Given the description of an element on the screen output the (x, y) to click on. 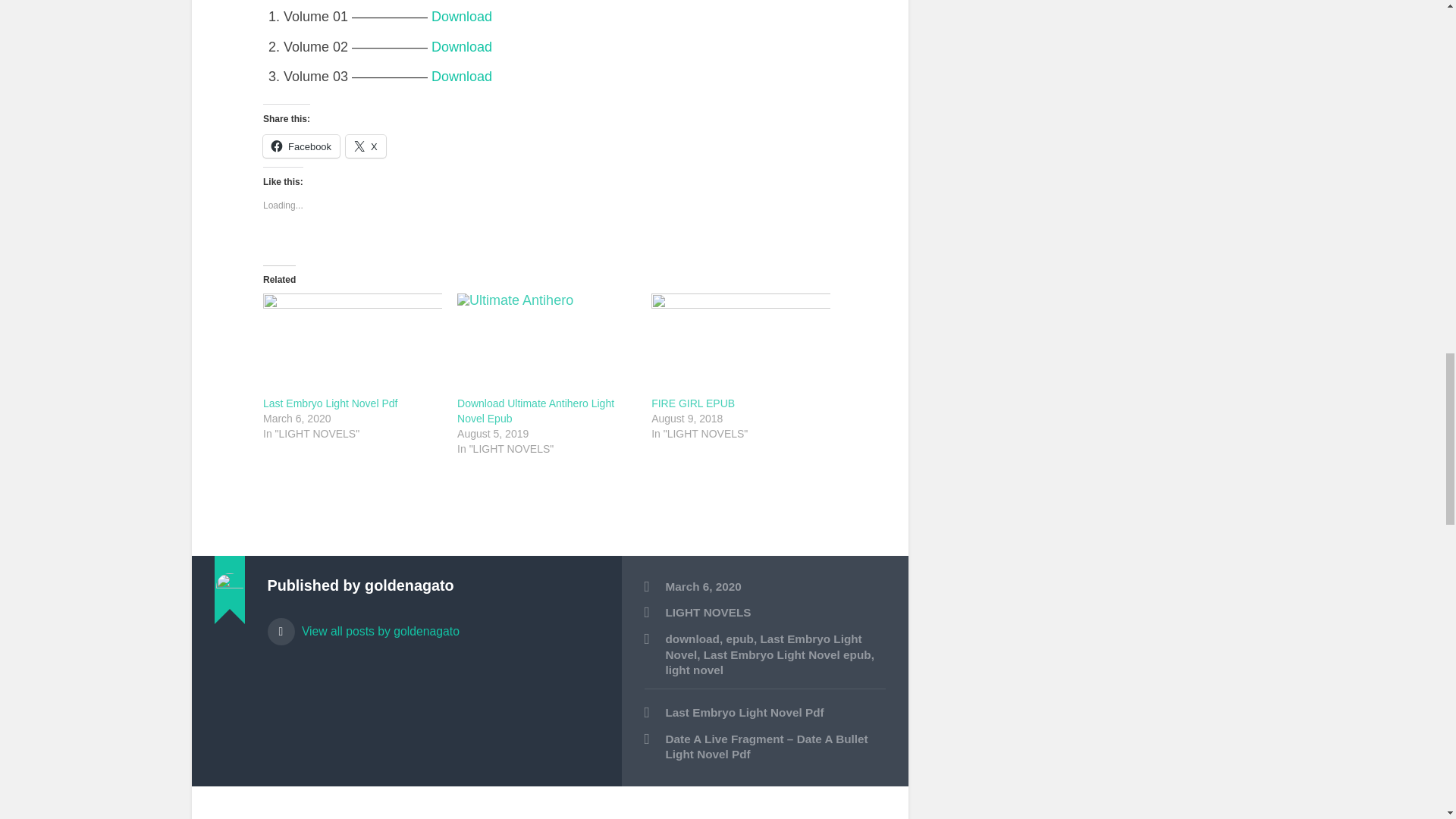
Click to share on X (365, 146)
FIRE GIRL EPUB (692, 403)
X (365, 146)
Click to share on Facebook (301, 146)
Download Ultimate Antihero Light Novel Epub (546, 344)
View all posts by goldenagato (432, 624)
Last Embryo Light Novel Pdf (765, 712)
Download (461, 76)
Download (461, 16)
Download Ultimate Antihero Light Novel Epub (535, 411)
epub (739, 638)
Last Embryo Light Novel Pdf (330, 403)
Download (461, 46)
Facebook (301, 146)
Last Embryo Light Novel epub (786, 654)
